Given the description of an element on the screen output the (x, y) to click on. 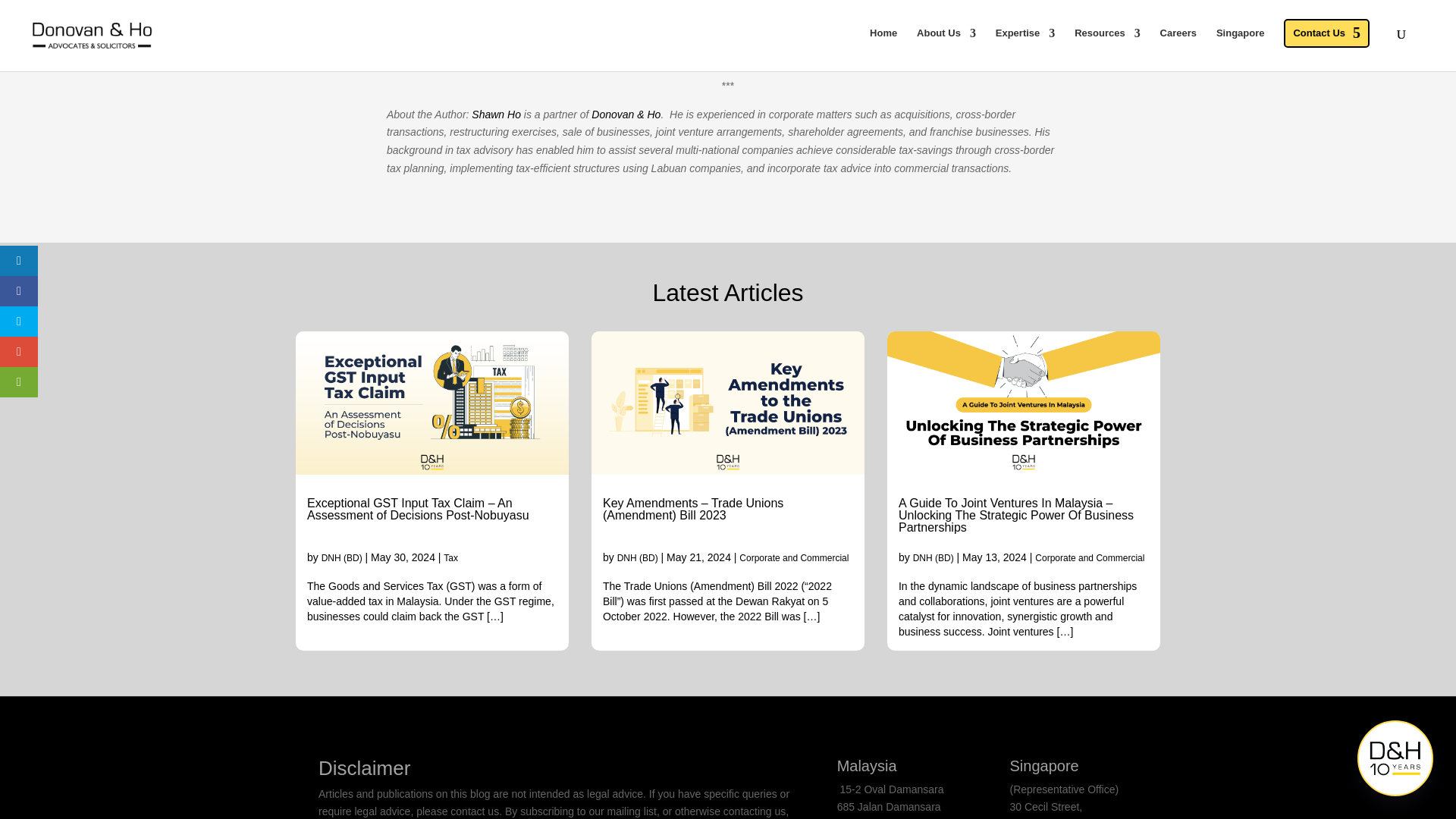
Shawn Ho (496, 114)
